Given the description of an element on the screen output the (x, y) to click on. 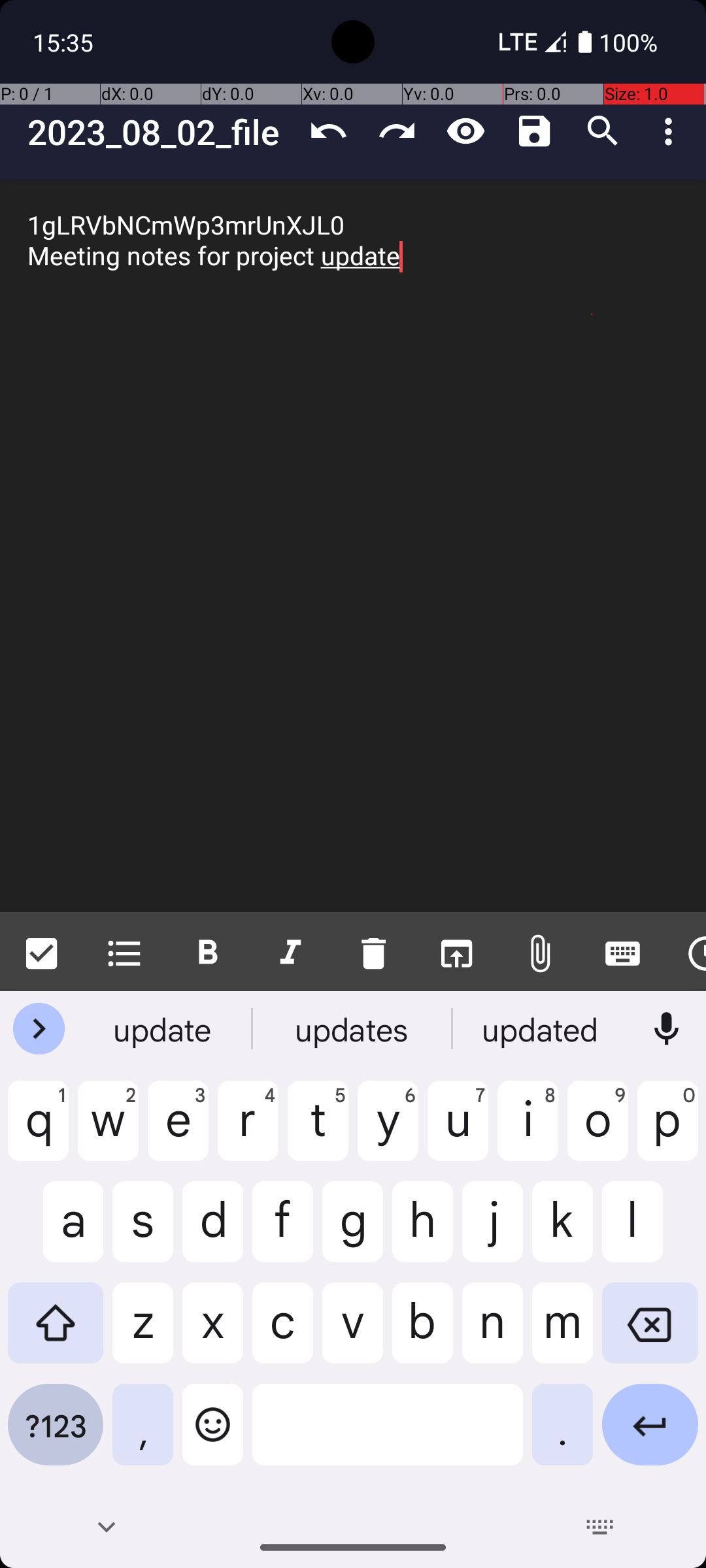
2023_08_02_file Element type: android.widget.TextView (160, 131)
1gLRVbNCmWp3mrUnXJL0
Meeting notes for project update Element type: android.widget.EditText (353, 545)
update Element type: android.widget.FrameLayout (163, 1028)
updates Element type: android.widget.FrameLayout (352, 1028)
updated Element type: android.widget.FrameLayout (541, 1028)
